Given the description of an element on the screen output the (x, y) to click on. 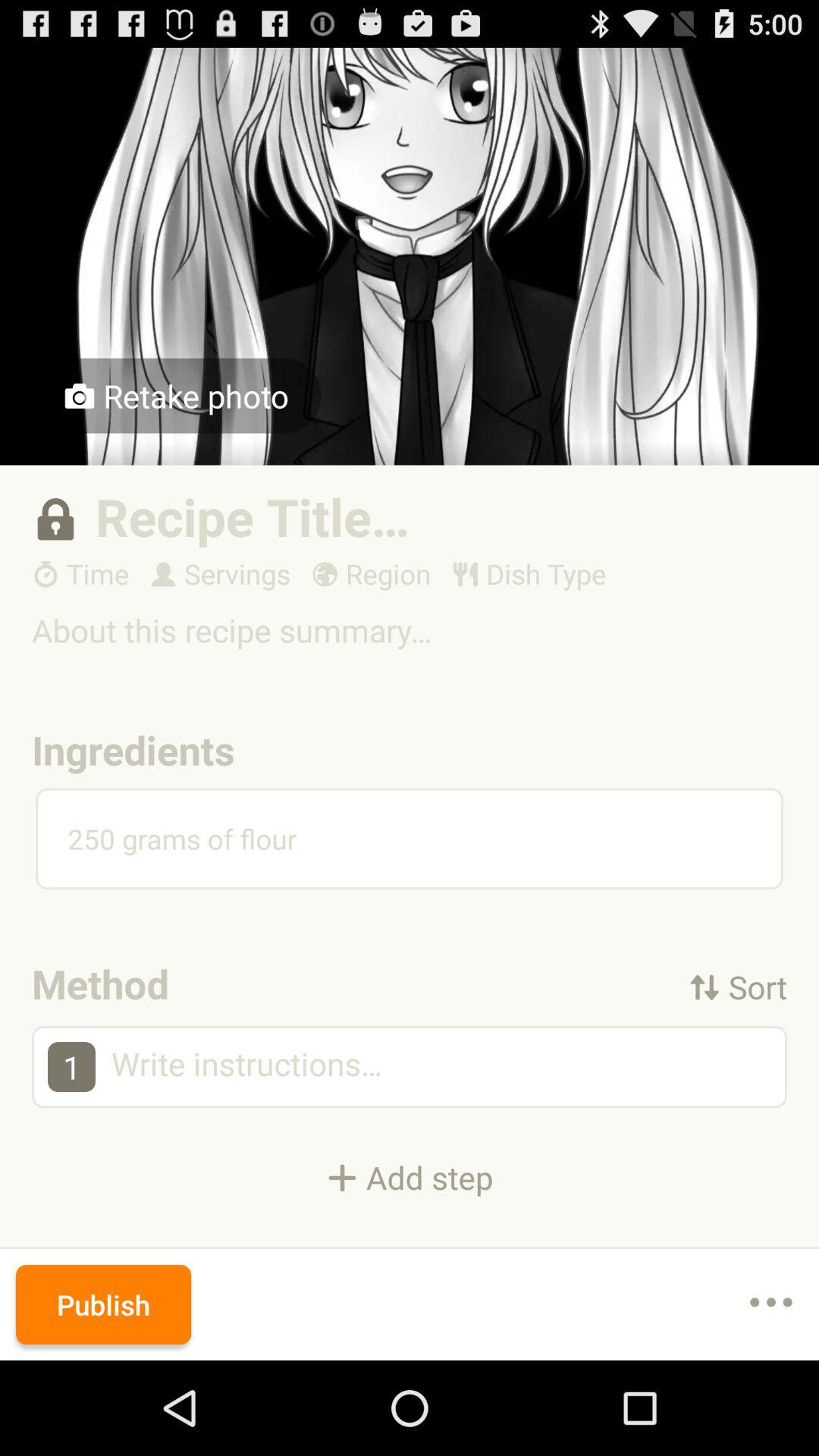
turn on publish icon (103, 1304)
